Given the description of an element on the screen output the (x, y) to click on. 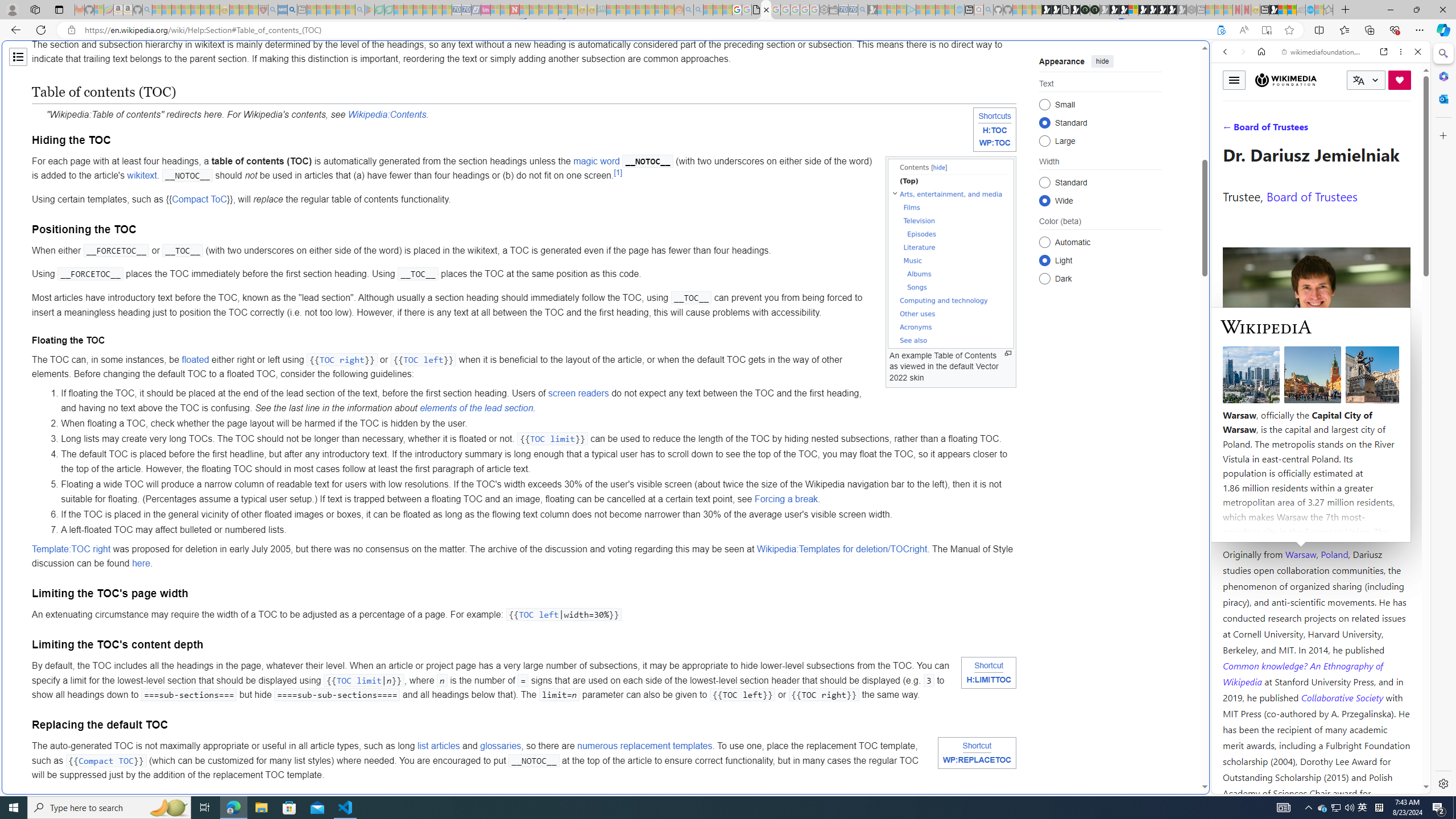
World - MSN (1283, 9)
magic word (596, 160)
Search Filter, IMAGES (1262, 129)
list articles (438, 746)
Compact ToC (199, 198)
Microsoft Start Gaming - Sleeping (872, 9)
Search Filter, Search Tools (1350, 129)
Light (1044, 259)
Bluey: Let's Play! - Apps on Google Play - Sleeping (369, 9)
